Given the description of an element on the screen output the (x, y) to click on. 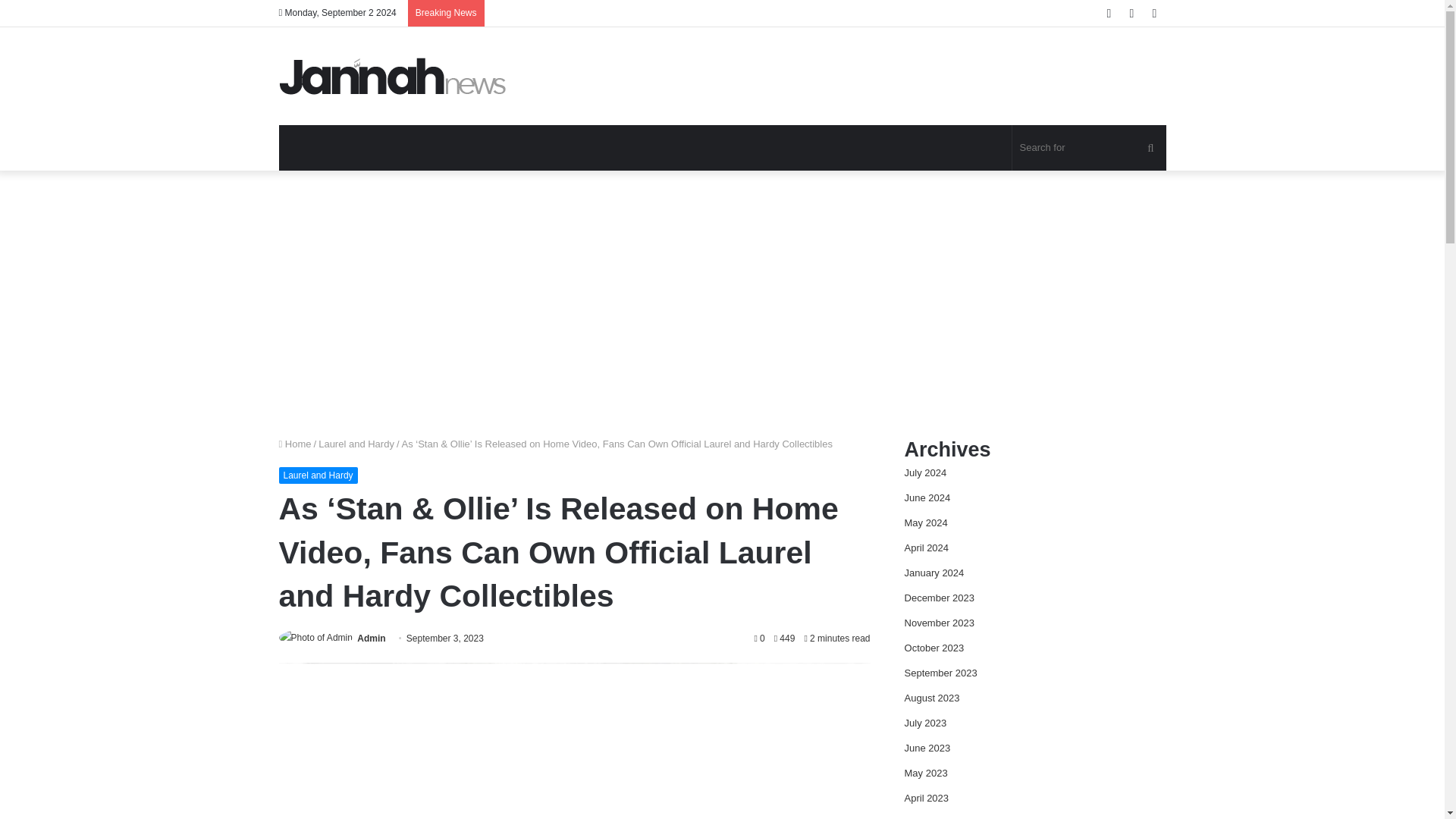
Home (295, 443)
Admin (370, 638)
Movie News (392, 76)
Laurel and Hardy (356, 443)
Laurel and Hardy (318, 475)
Search for (1088, 147)
Admin (370, 638)
